Given the description of an element on the screen output the (x, y) to click on. 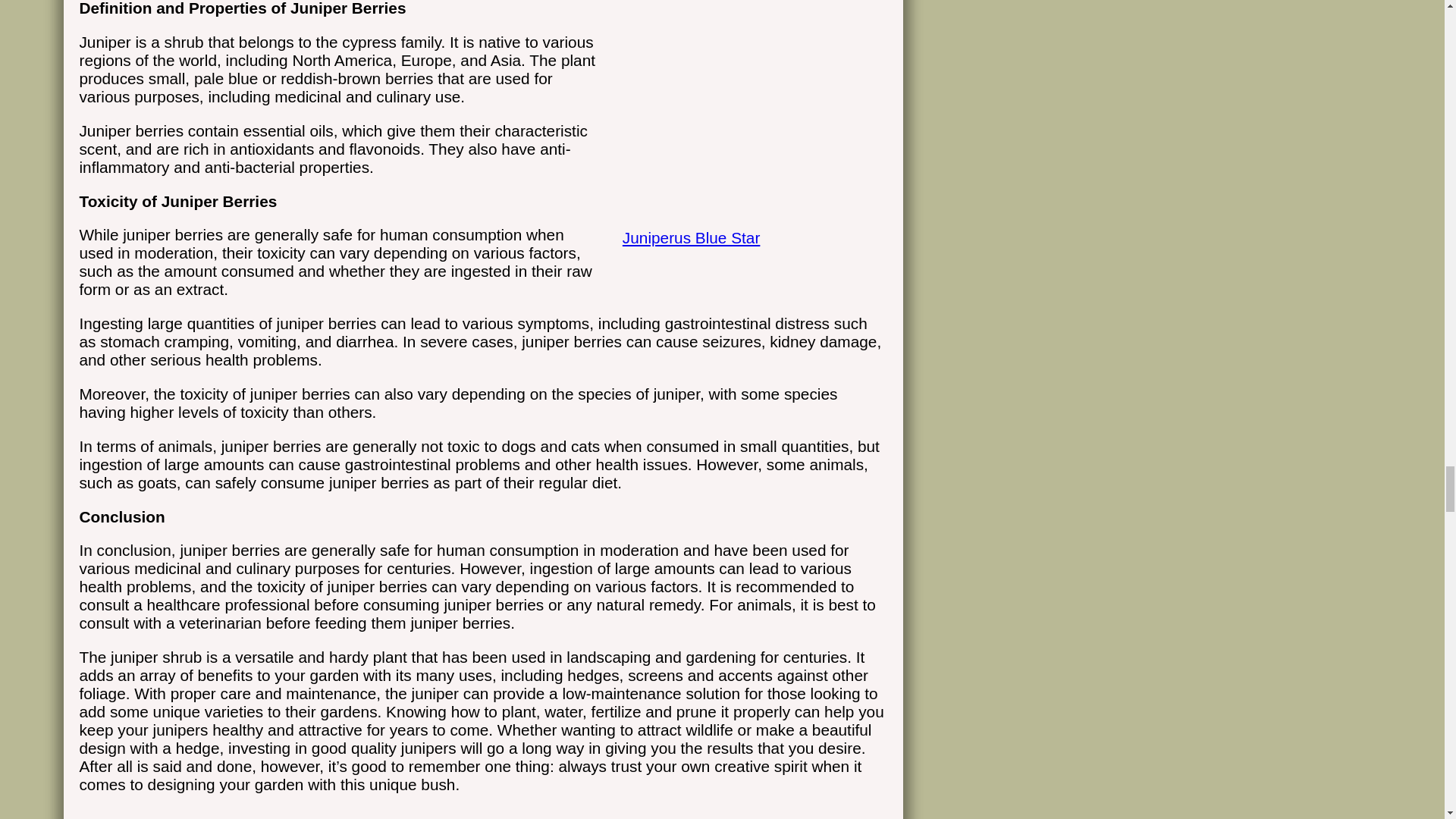
Juniperus Blue Star (747, 220)
